Given the description of an element on the screen output the (x, y) to click on. 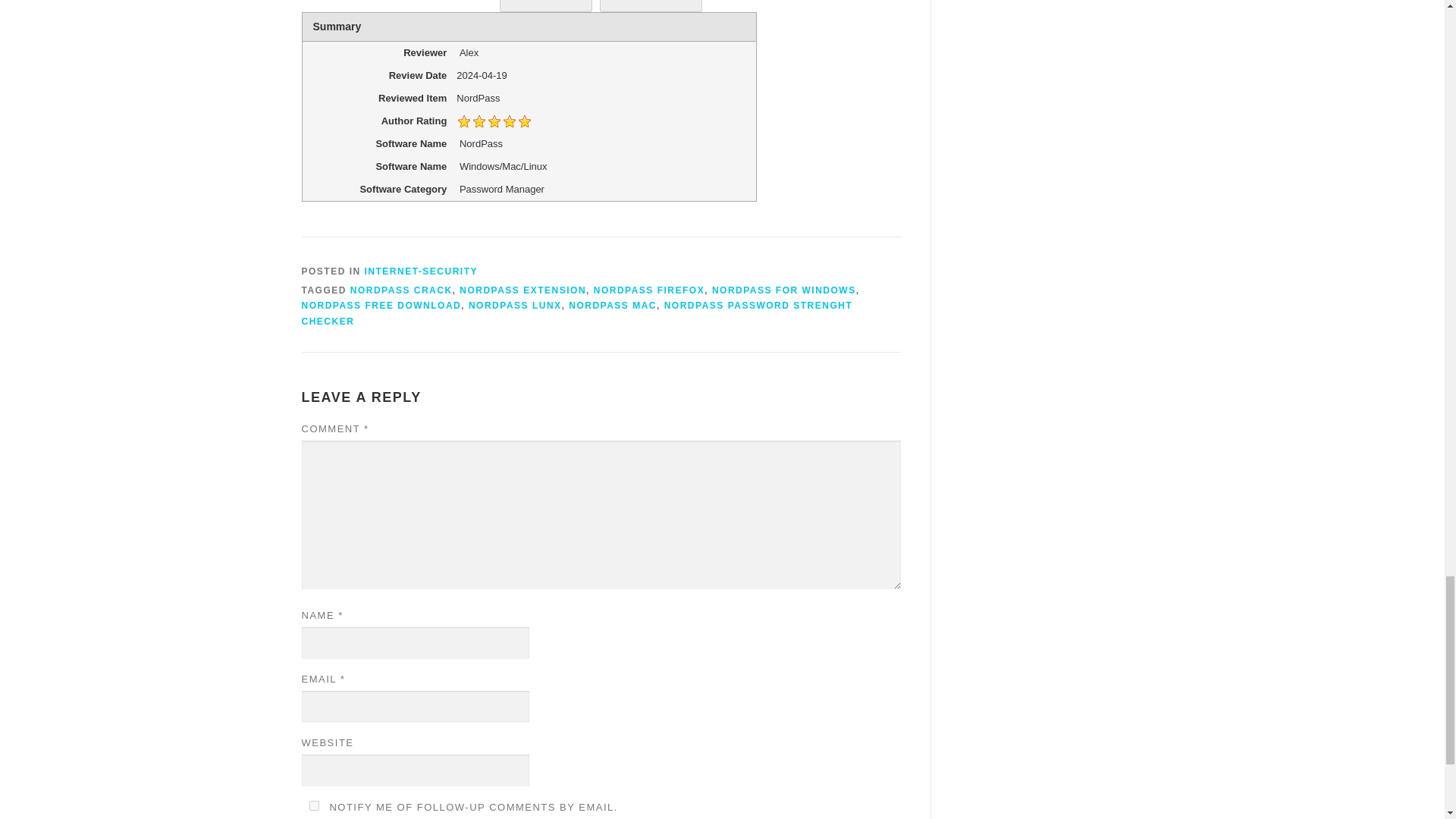
NORDPASS FIREFOX (649, 290)
NORDPASS EXTENSION (523, 290)
INTERNET-SECURITY (422, 270)
NORDPASS FOR WINDOWS (783, 290)
NORDPASS FREE DOWNLOAD (381, 305)
NORDPASS PASSWORD STRENGHT CHECKER (577, 312)
NORDPASS CRACK (401, 290)
Setup Full (545, 5)
subscribe (313, 805)
NORDPASS MAC (612, 305)
NORDPASS LUNX (515, 305)
